Given the description of an element on the screen output the (x, y) to click on. 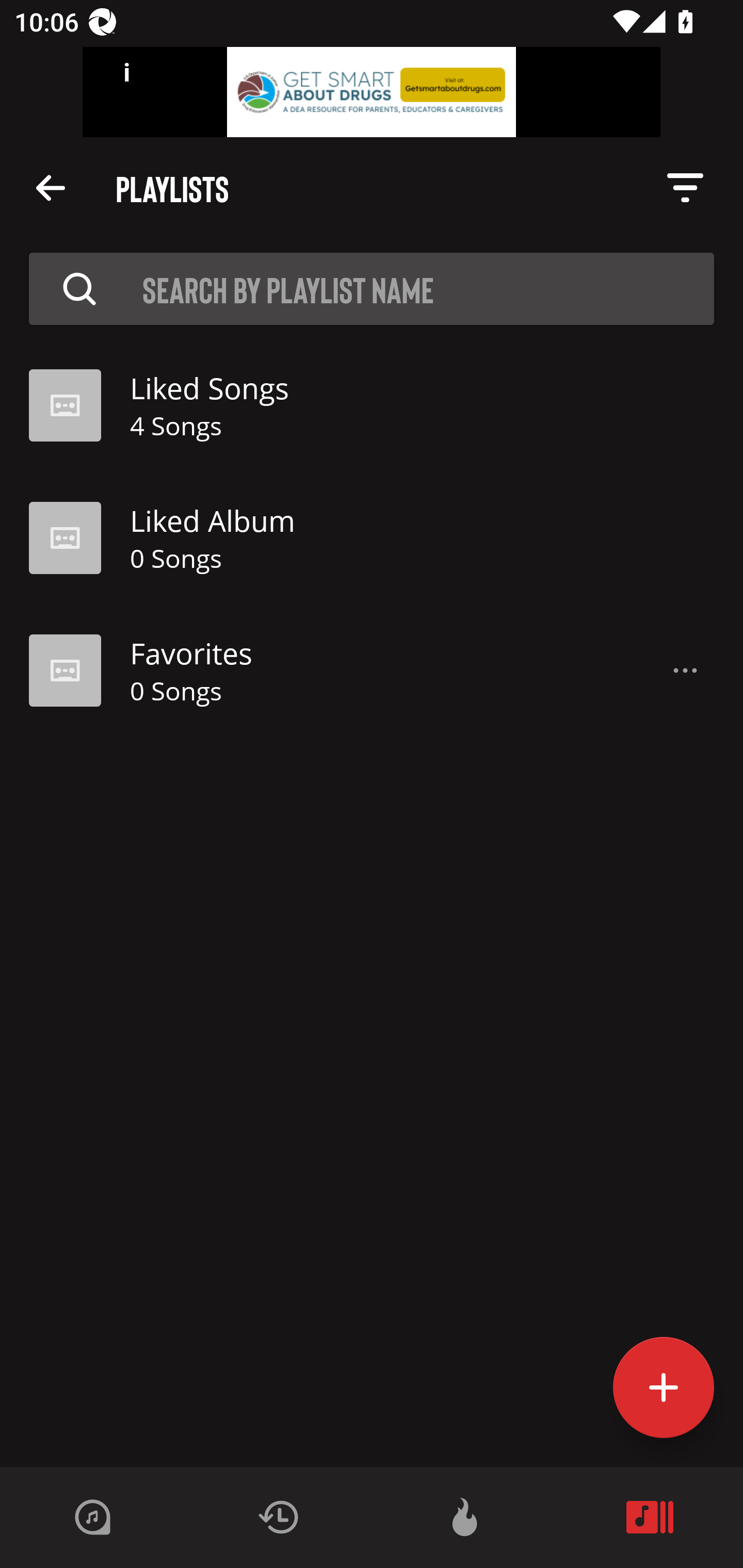
Description (50, 187)
Description (684, 188)
Search by playlist name (377, 288)
Description (79, 288)
Description Liked Songs 4 Songs (371, 404)
Description Liked Album 0 Songs (371, 538)
Description Favorites 0 Songs Description (371, 670)
Description (685, 670)
